Given the description of an element on the screen output the (x, y) to click on. 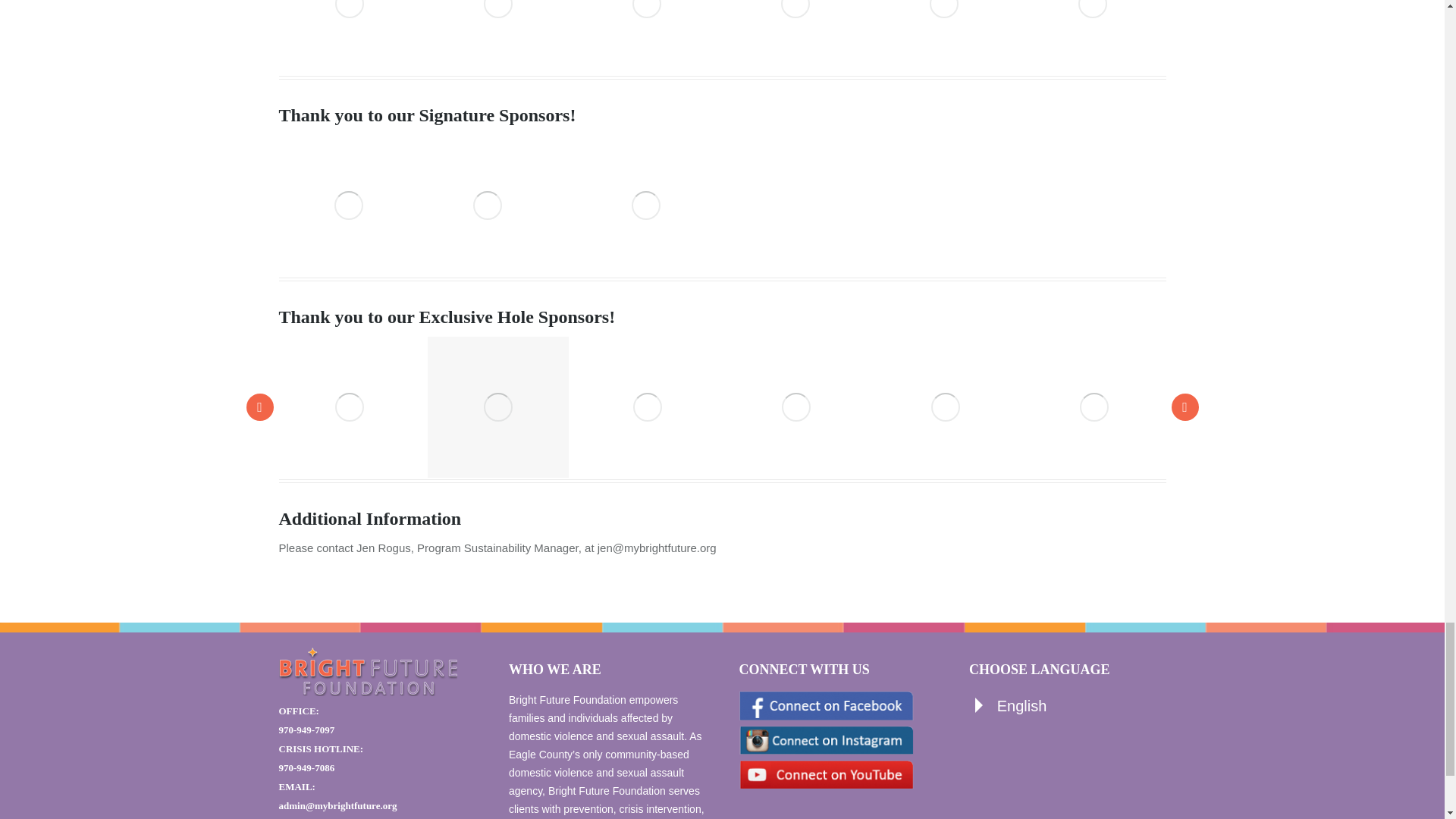
Ferraro Presenting (349, 37)
